Given the description of an element on the screen output the (x, y) to click on. 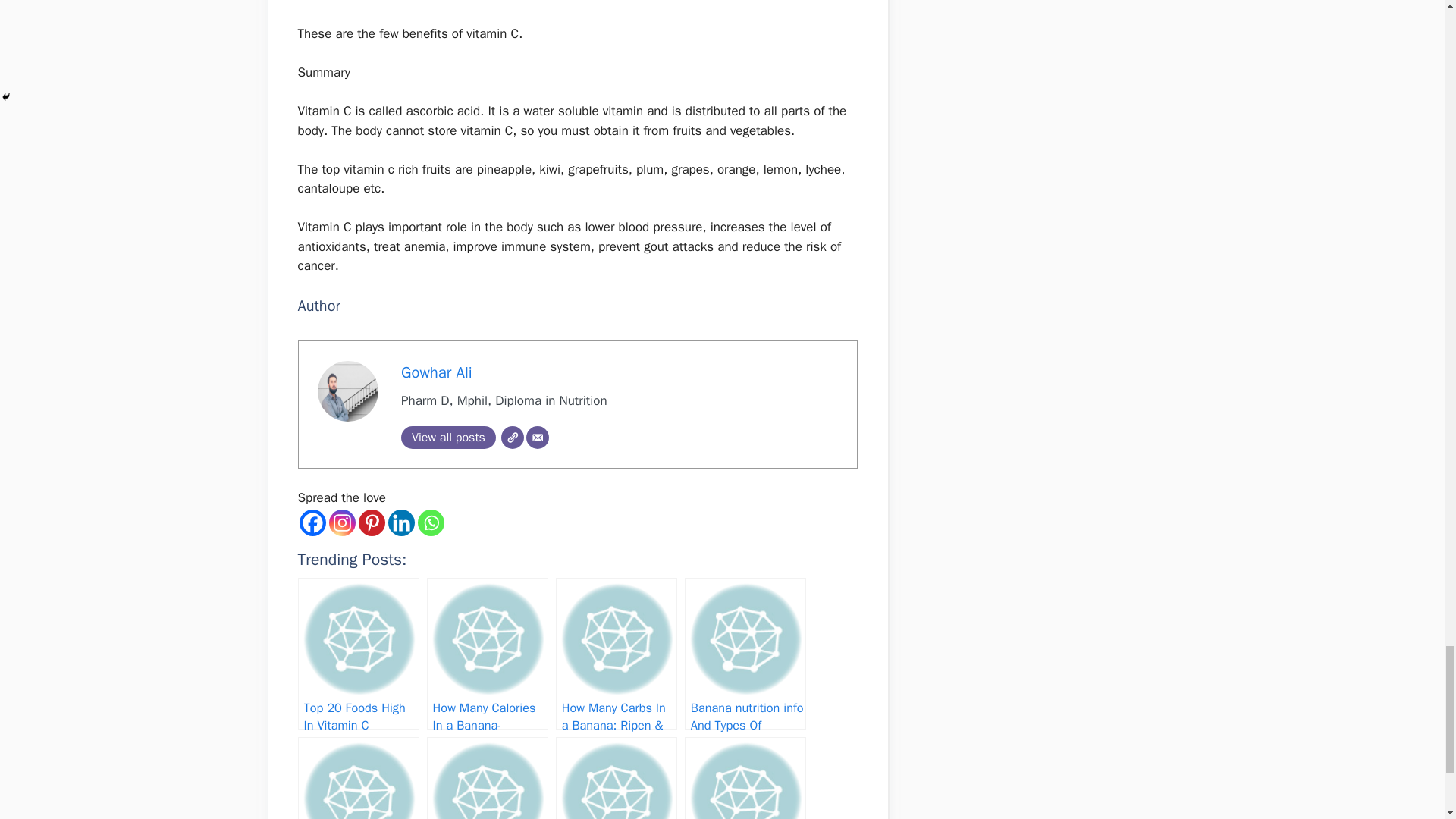
Gowhar Ali (436, 372)
Whatsapp (430, 522)
Linkedin (401, 522)
Instagram (342, 522)
View all posts (448, 436)
Top 50 Iron Rich Food in Pregnancy (745, 778)
List of Foods High In Iron (616, 778)
Facebook (311, 522)
Gowhar Ali (436, 372)
Top 23 Foods High In Calcium. (487, 778)
Pinterest (371, 522)
View all posts (448, 436)
